Given the description of an element on the screen output the (x, y) to click on. 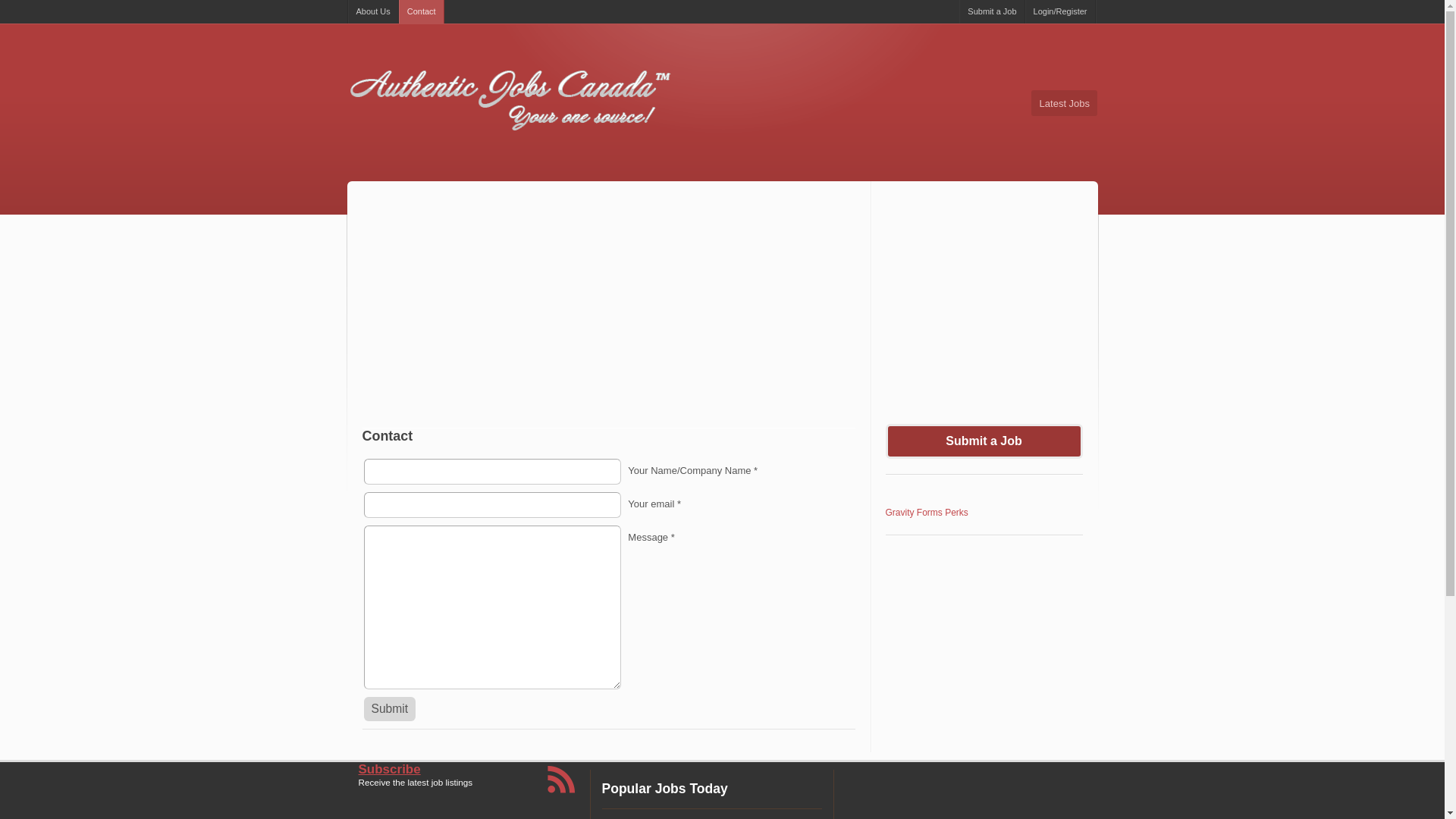
About Us Element type: text (372, 11)
Submit Element type: text (390, 708)
Login/Register Element type: text (1060, 11)
Contact Element type: text (421, 11)
Submit a Job Element type: text (991, 11)
Subscribe Element type: text (388, 769)
Advertisement Element type: hover (722, 309)
Latest Jobs Element type: text (1064, 103)
Gravity Forms Perks Element type: text (926, 512)
Submit a Job Element type: text (983, 441)
